Given the description of an element on the screen output the (x, y) to click on. 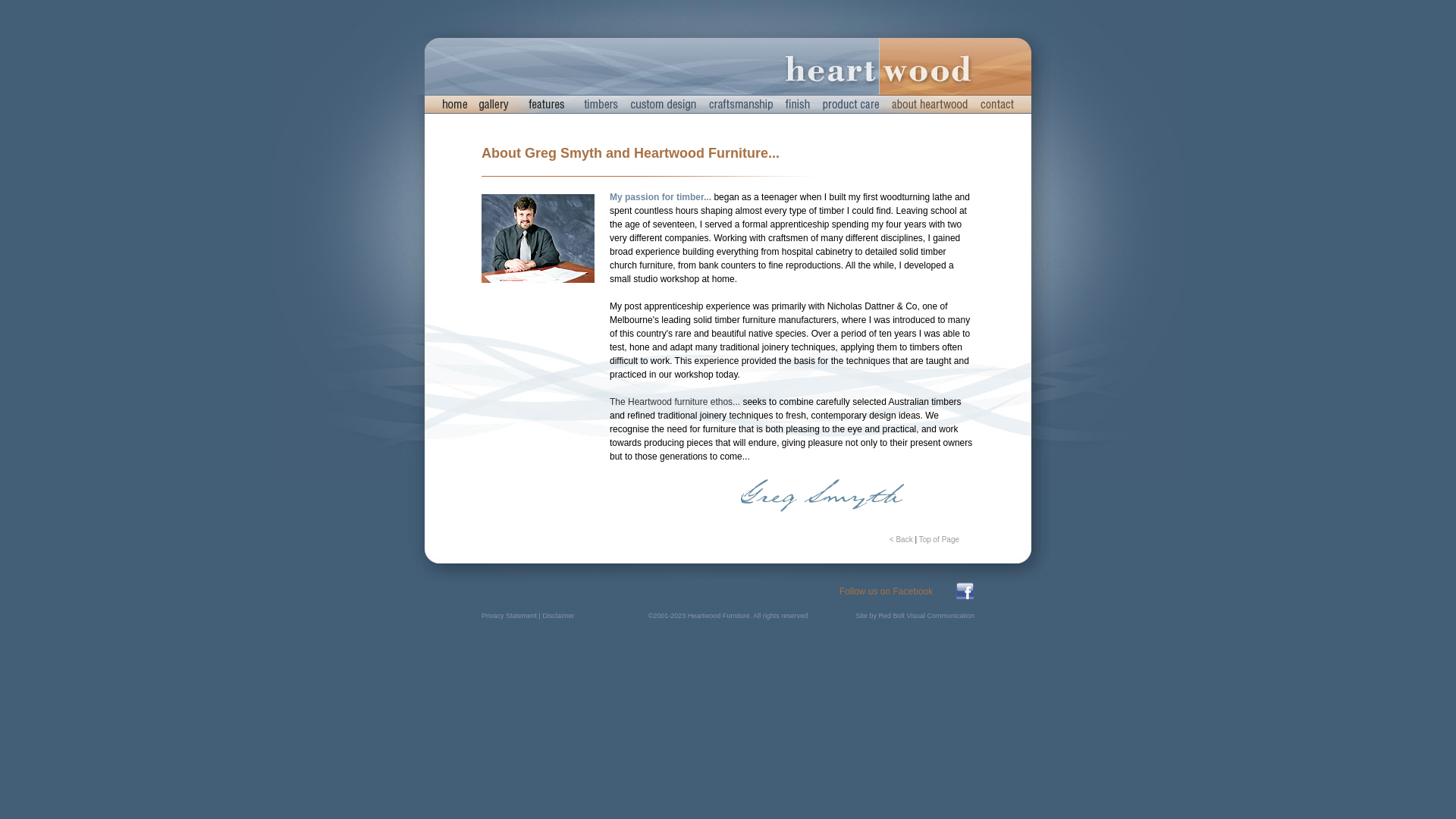
Follow us on Facebook Element type: text (885, 591)
Disclaimer Element type: text (558, 615)
Red Bolt Visual Communication Element type: text (926, 615)
< Back Element type: text (901, 539)
Privacy Statement Element type: text (508, 615)
Top of Page Element type: text (939, 539)
